Given the description of an element on the screen output the (x, y) to click on. 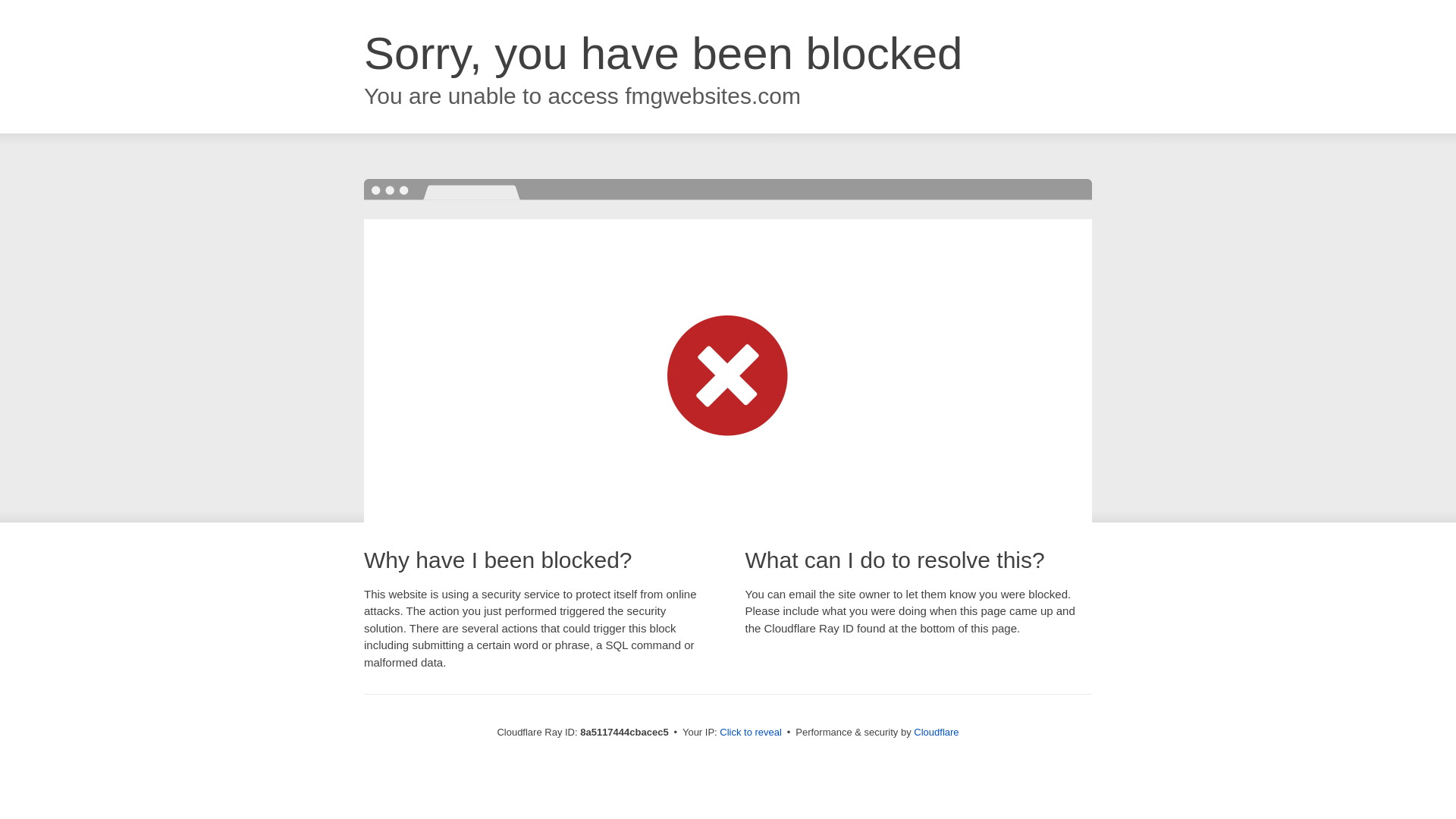
Click to reveal (750, 732)
Cloudflare (936, 731)
